Given the description of an element on the screen output the (x, y) to click on. 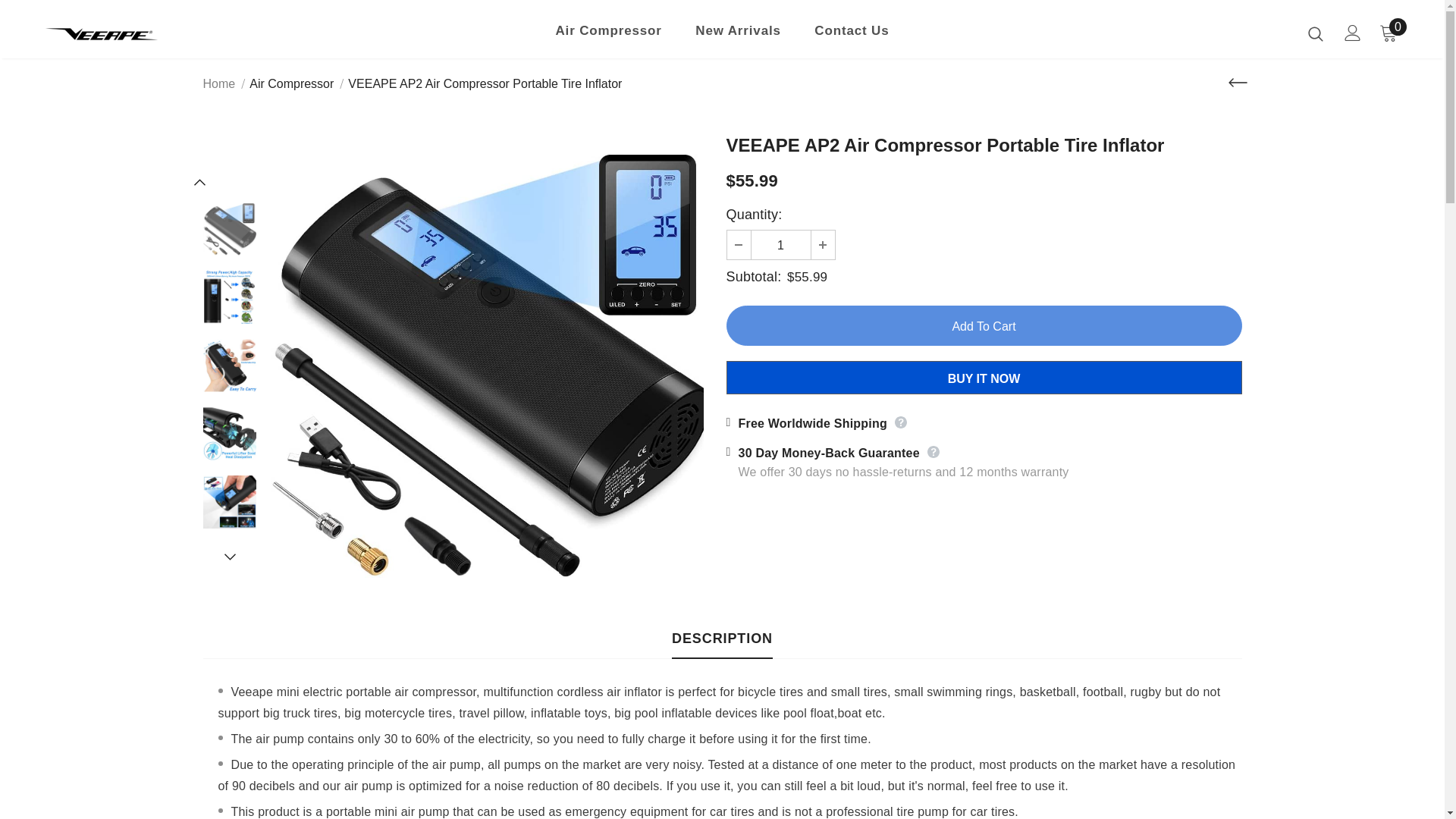
1 (780, 244)
Contact Us (850, 34)
Air Compressor (607, 34)
Air Compressor (290, 83)
0 (1387, 32)
New Arrivals (737, 34)
Cart Icon (1387, 32)
Logo (134, 33)
Home (219, 84)
Search Icon (1315, 32)
Add to cart (983, 325)
